Given the description of an element on the screen output the (x, y) to click on. 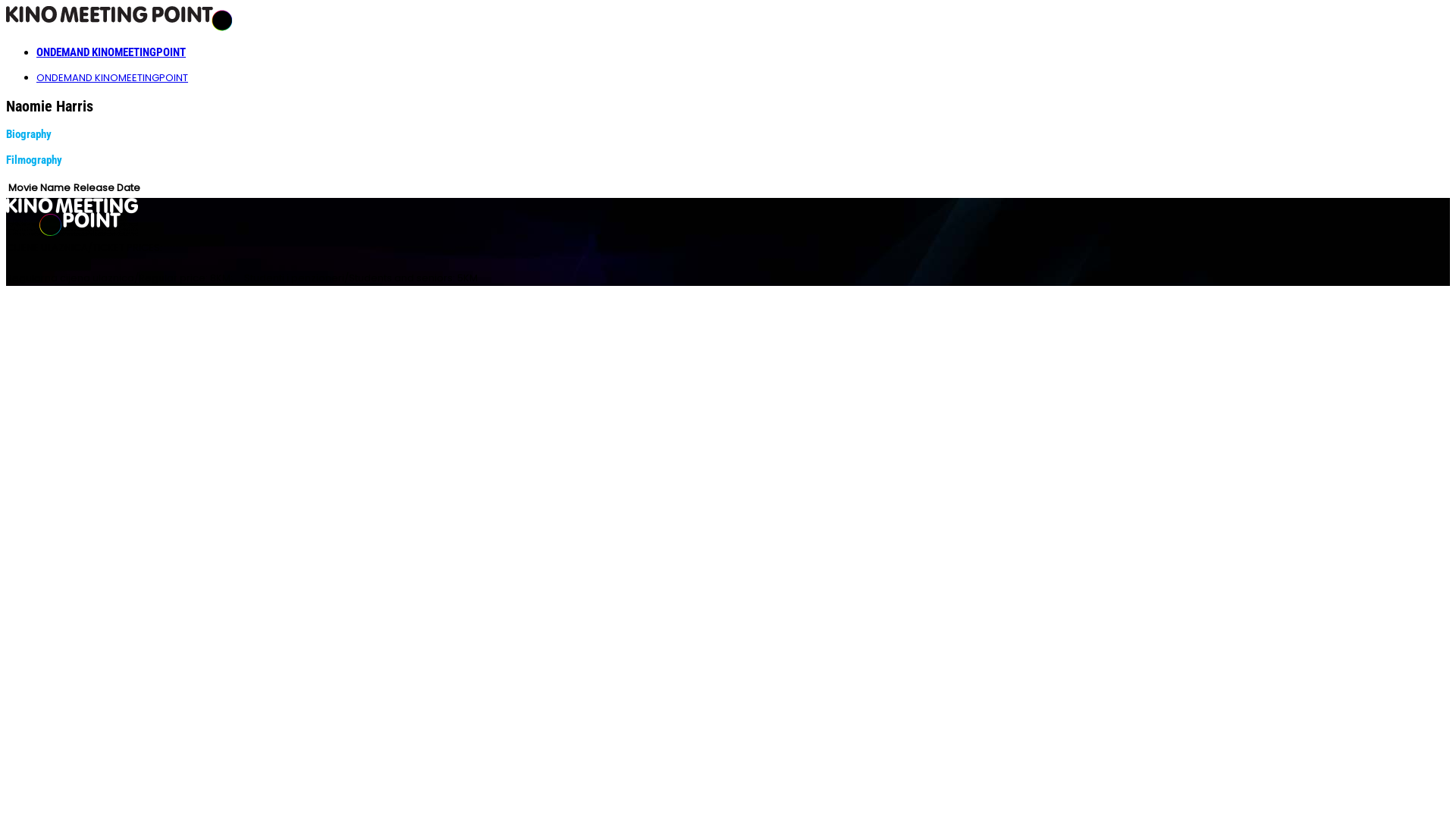
ONDEMAND KINOMEETINGPOINT Element type: text (112, 77)
ONDEMAND KINOMEETINGPOINT Element type: text (110, 52)
